Given the description of an element on the screen output the (x, y) to click on. 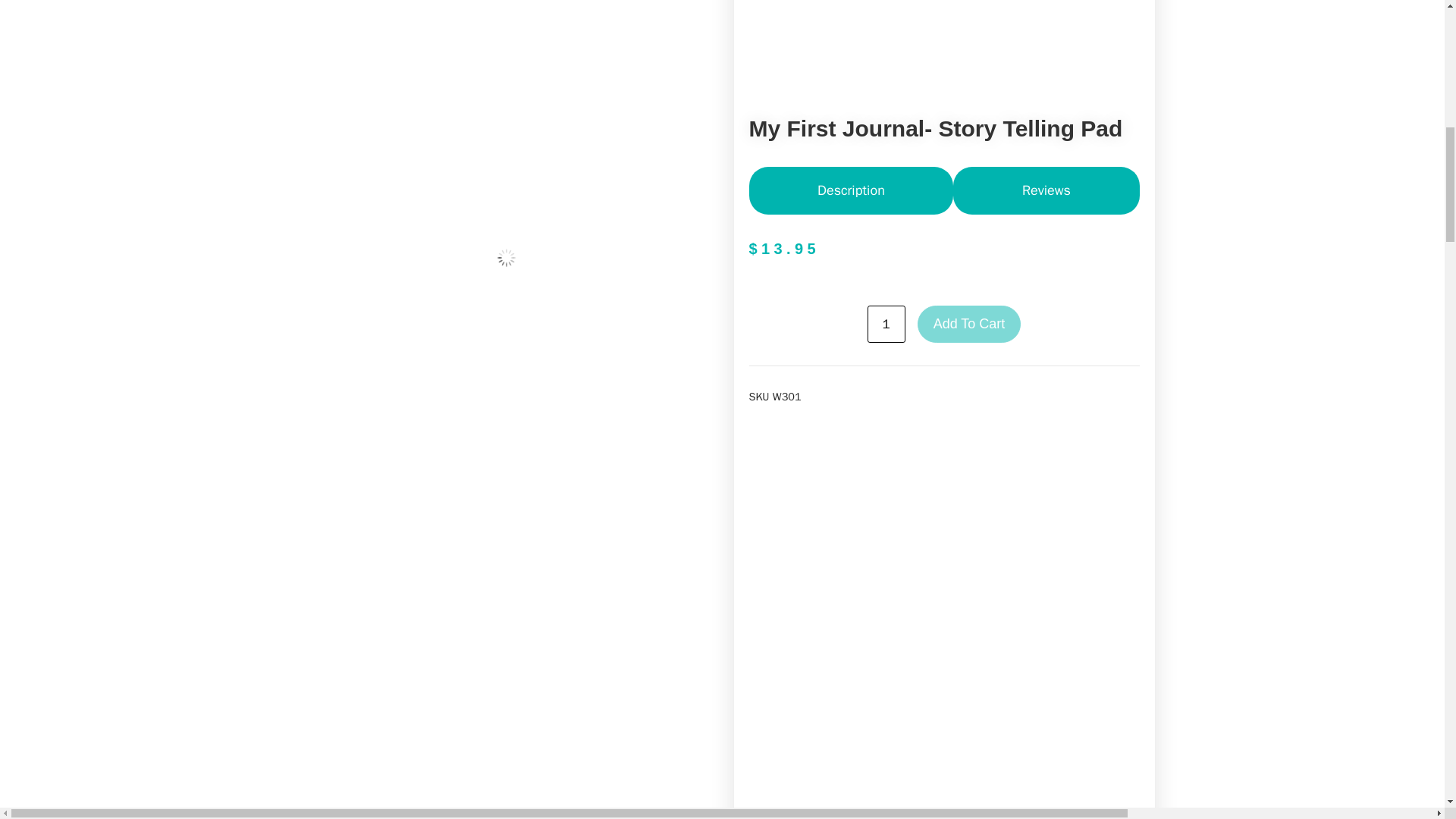
Add To Cart (969, 324)
1 (886, 324)
